Given the description of an element on the screen output the (x, y) to click on. 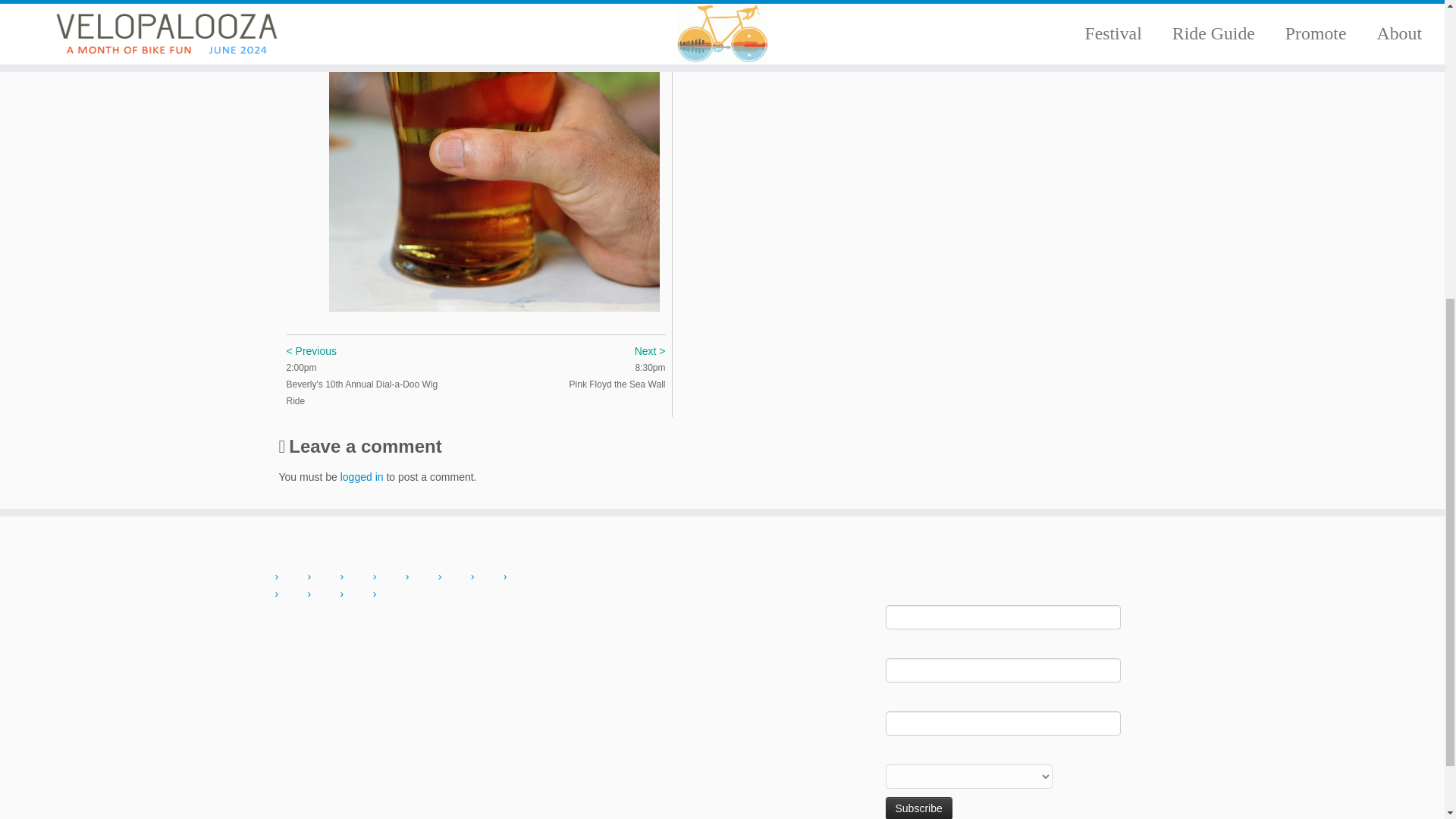
2016 (490, 576)
2014 (424, 576)
Sign in (418, 647)
2023 (392, 593)
2012 (359, 576)
logged in (362, 476)
Sponsor (447, 622)
2015 (457, 576)
2018 (294, 593)
2017 (522, 576)
2013 (392, 576)
2019 (327, 593)
2022 (359, 593)
2010 (294, 576)
Add an event (347, 622)
